Given the description of an element on the screen output the (x, y) to click on. 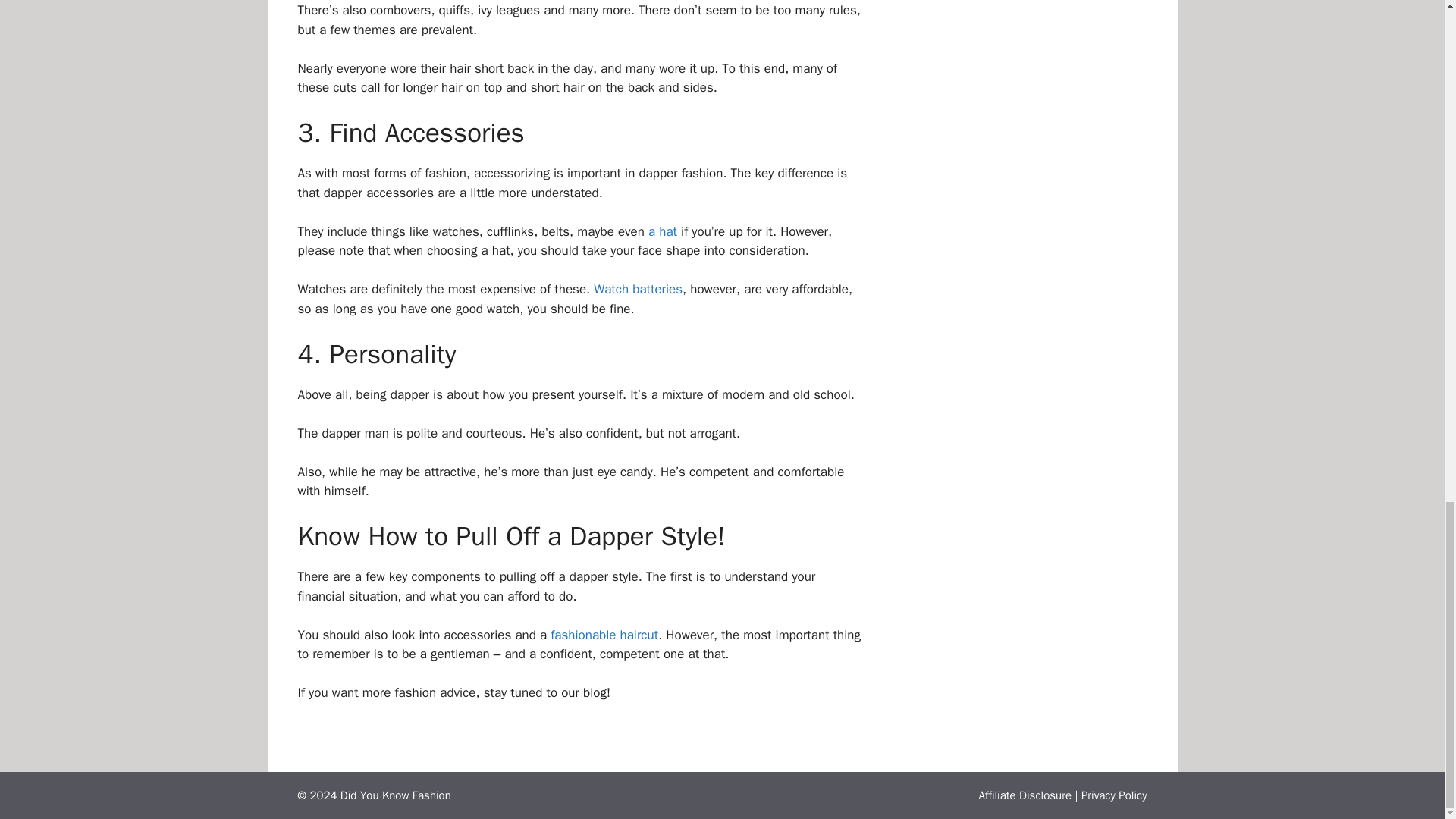
fashionable haircut (604, 634)
Watch batteries (638, 289)
a hat (662, 231)
